Given the description of an element on the screen output the (x, y) to click on. 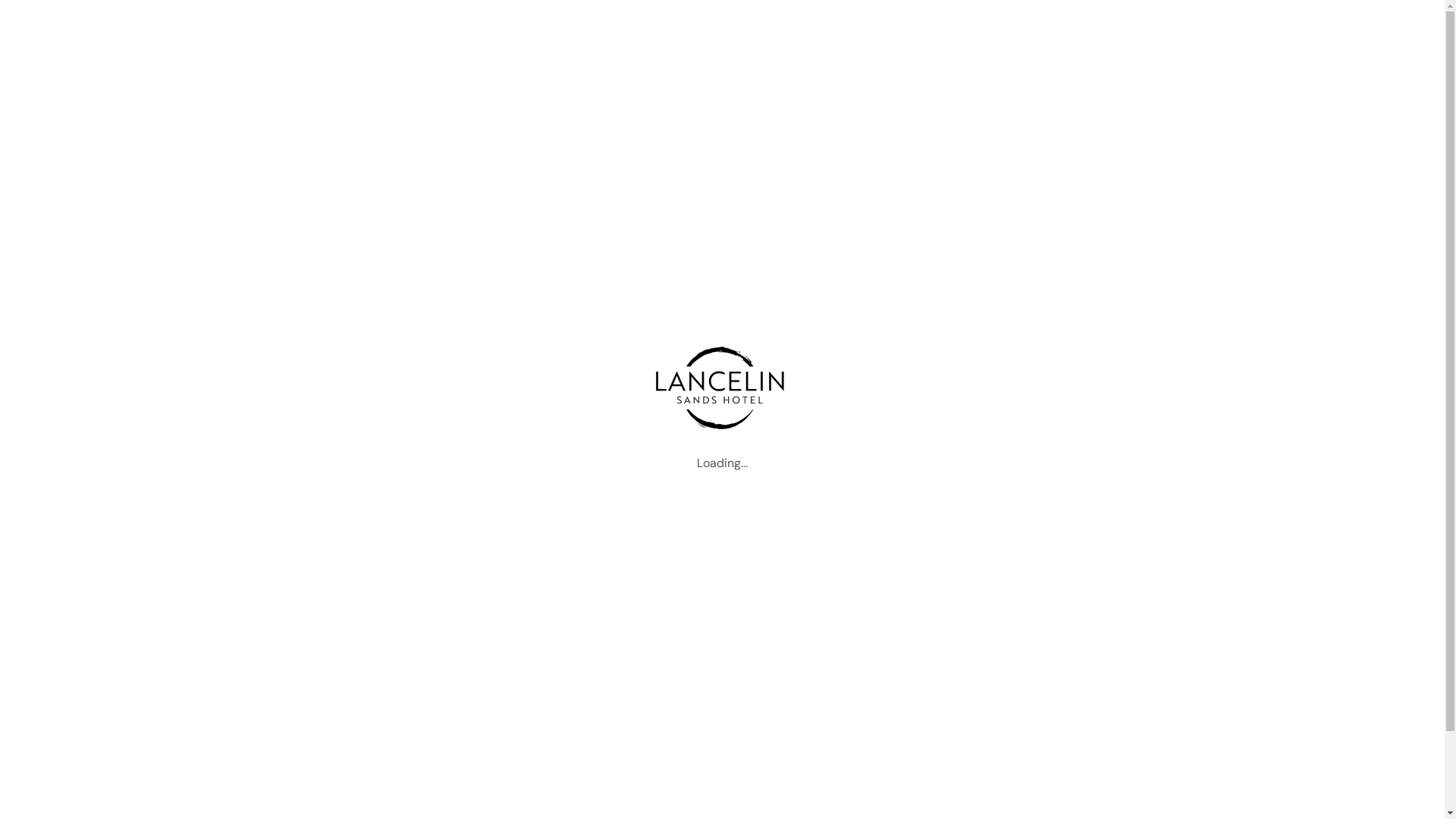
Lancelin Sands Hotel Element type: hover (322, 79)
About us Element type: text (601, 79)
+61 (08) 9655 1005 Element type: text (515, 17)
Send Element type: text (1106, 726)
Go Home Element type: text (722, 398)
Our gallery Element type: text (547, 716)
Our facilities Element type: text (552, 690)
Contact Element type: text (1108, 79)
Our escapes Element type: text (877, 79)
Home Element type: text (534, 79)
info@lancelinsandshotel.com.au Element type: text (680, 17)
Contact Element type: text (539, 744)
Our facilities Element type: text (777, 79)
Facebook Element type: hover (1240, 17)
Our rooms Element type: text (682, 79)
News Element type: text (1045, 79)
Facebook Element type: hover (316, 774)
Our gallery Element type: text (972, 79)
Book now Element type: text (1196, 78)
About us Element type: text (542, 636)
Our rooms Element type: text (546, 663)
